Given the description of an element on the screen output the (x, y) to click on. 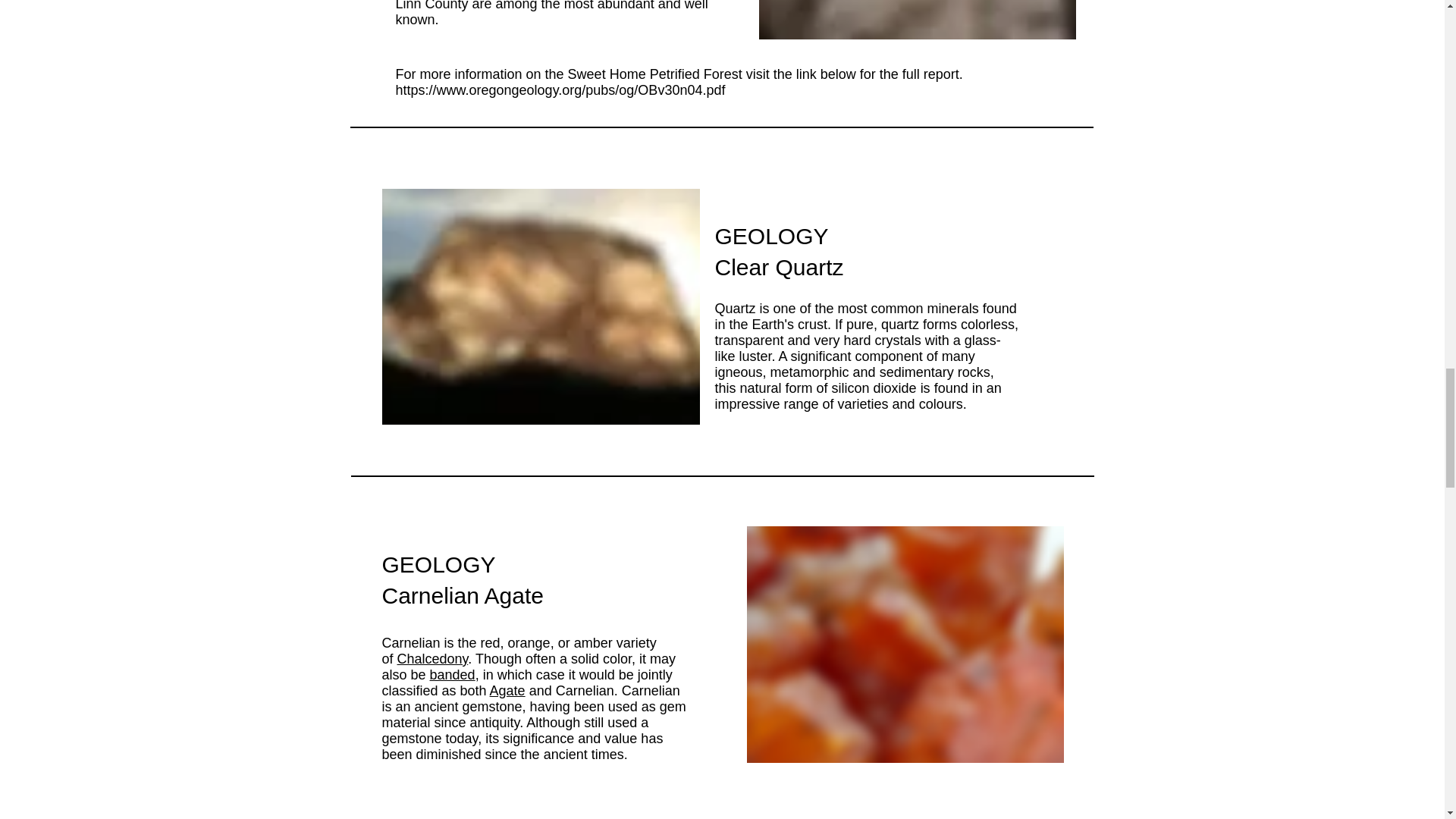
Chalcedony (432, 658)
banded (452, 674)
Agate (507, 690)
